Given the description of an element on the screen output the (x, y) to click on. 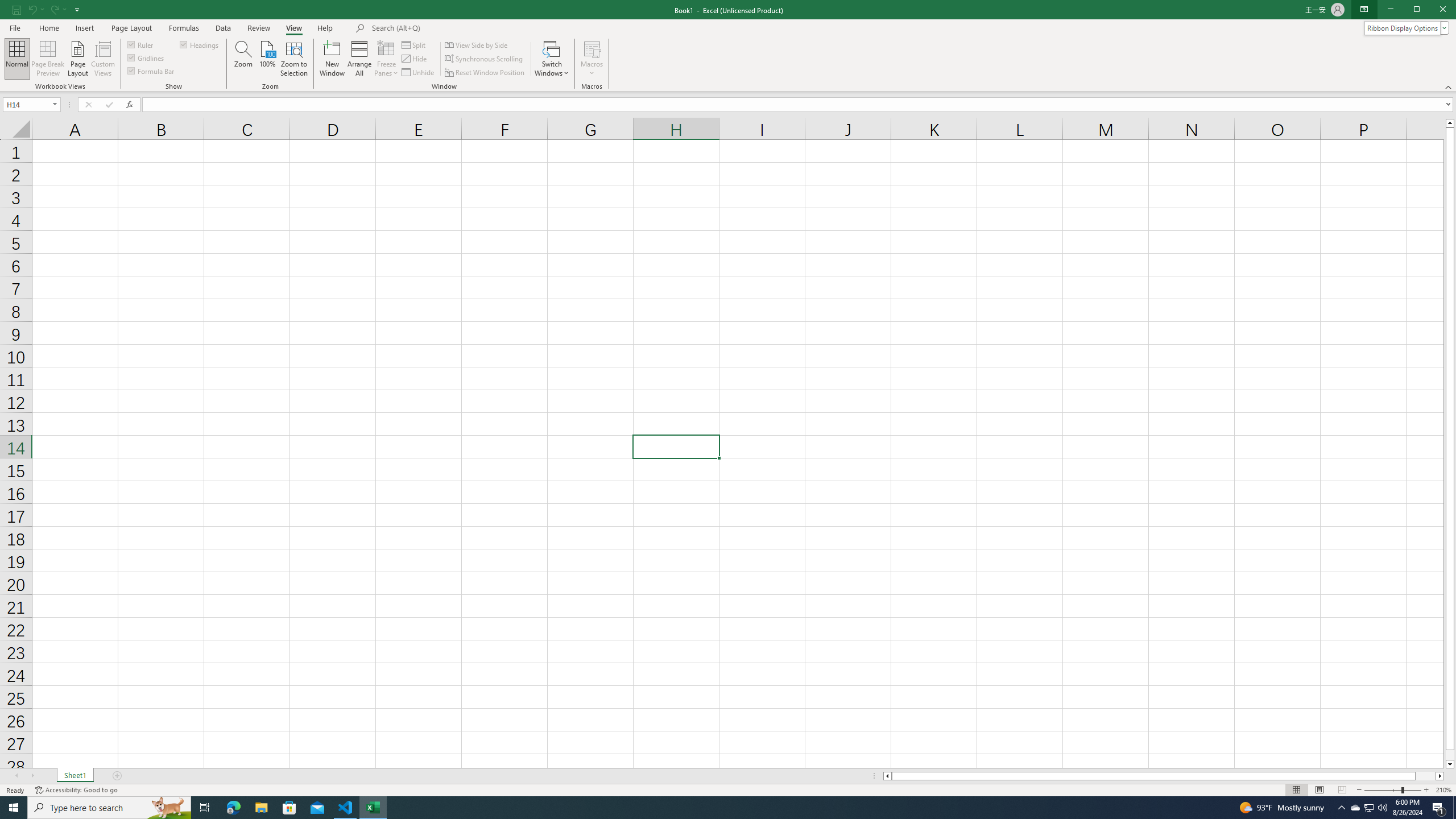
Arrange All (359, 58)
Unhide... (419, 72)
Hide (415, 58)
